Given the description of an element on the screen output the (x, y) to click on. 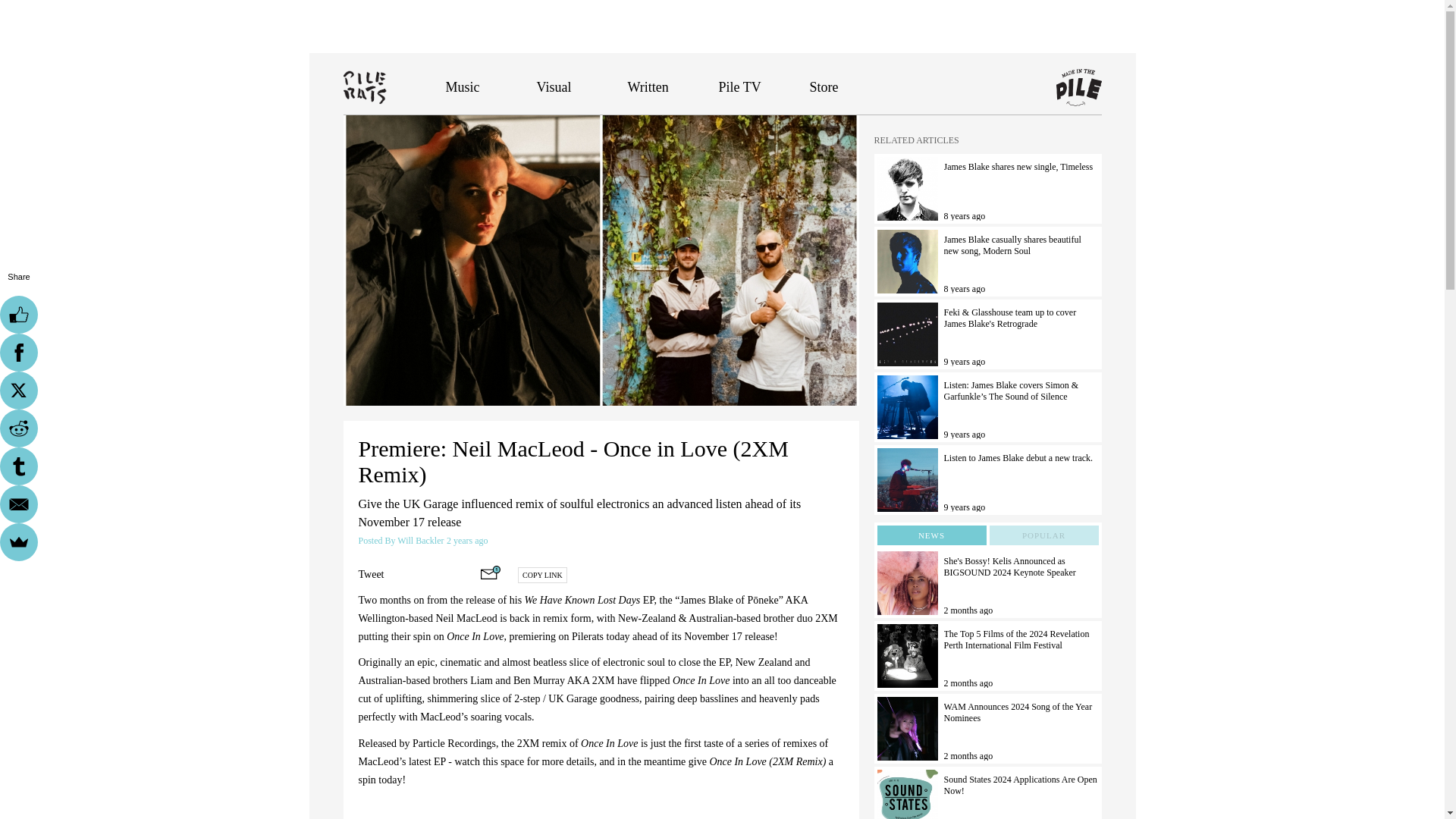
Written (647, 86)
Made In The Pile (1077, 87)
Written (647, 86)
Share via email (490, 572)
Pile TV (740, 86)
Music (462, 86)
Music (462, 86)
Visual (554, 86)
Home (393, 86)
Visual (554, 86)
Pile TV (740, 86)
Made In The Pile (1077, 87)
